Given the description of an element on the screen output the (x, y) to click on. 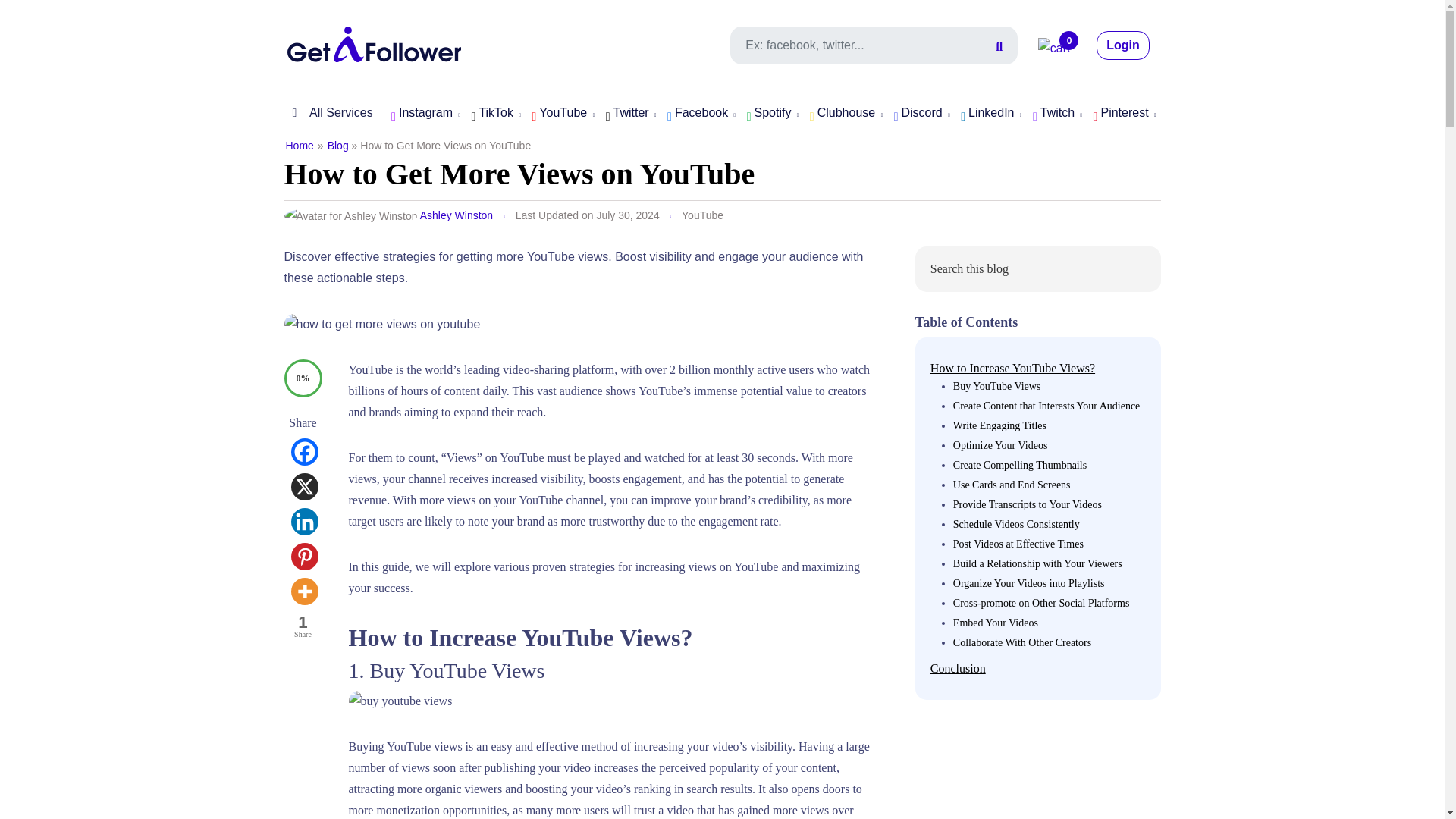
Pinterest (304, 556)
0 (1054, 48)
Total Shares (303, 627)
Go (1139, 270)
GetAFollower (373, 42)
Login (1123, 45)
Gravatar for Ashley Winston (349, 215)
Instagram (422, 114)
All Services (327, 112)
Linkedin (304, 521)
